Given the description of an element on the screen output the (x, y) to click on. 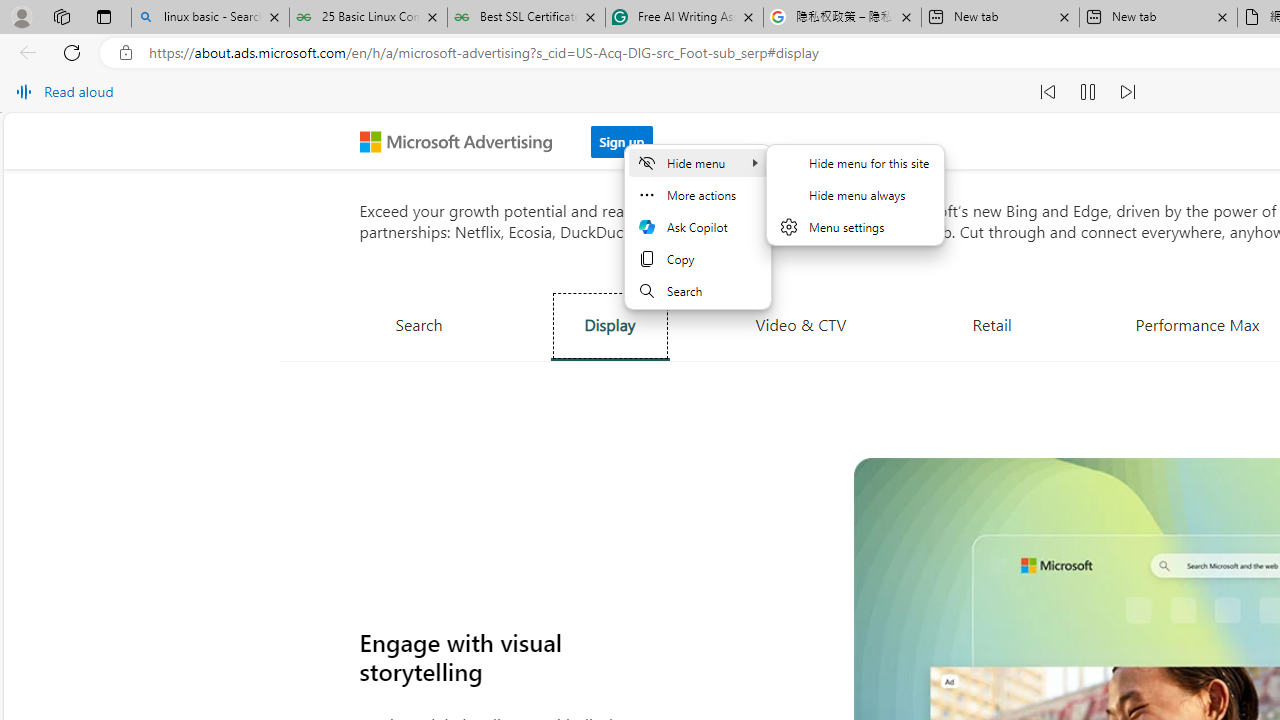
25 Basic Linux Commands For Beginners - GeeksforGeeks (368, 17)
Hide menu always (855, 194)
Mini menu on text selection (698, 238)
Performance Max (1197, 324)
Copy (697, 259)
Hide menu (855, 206)
More actions (697, 194)
Microsoft Advertising (463, 140)
Sign up (621, 136)
Pause read aloud (Ctrl+Shift+U) (1087, 92)
Ask Copilot (697, 226)
